Given the description of an element on the screen output the (x, y) to click on. 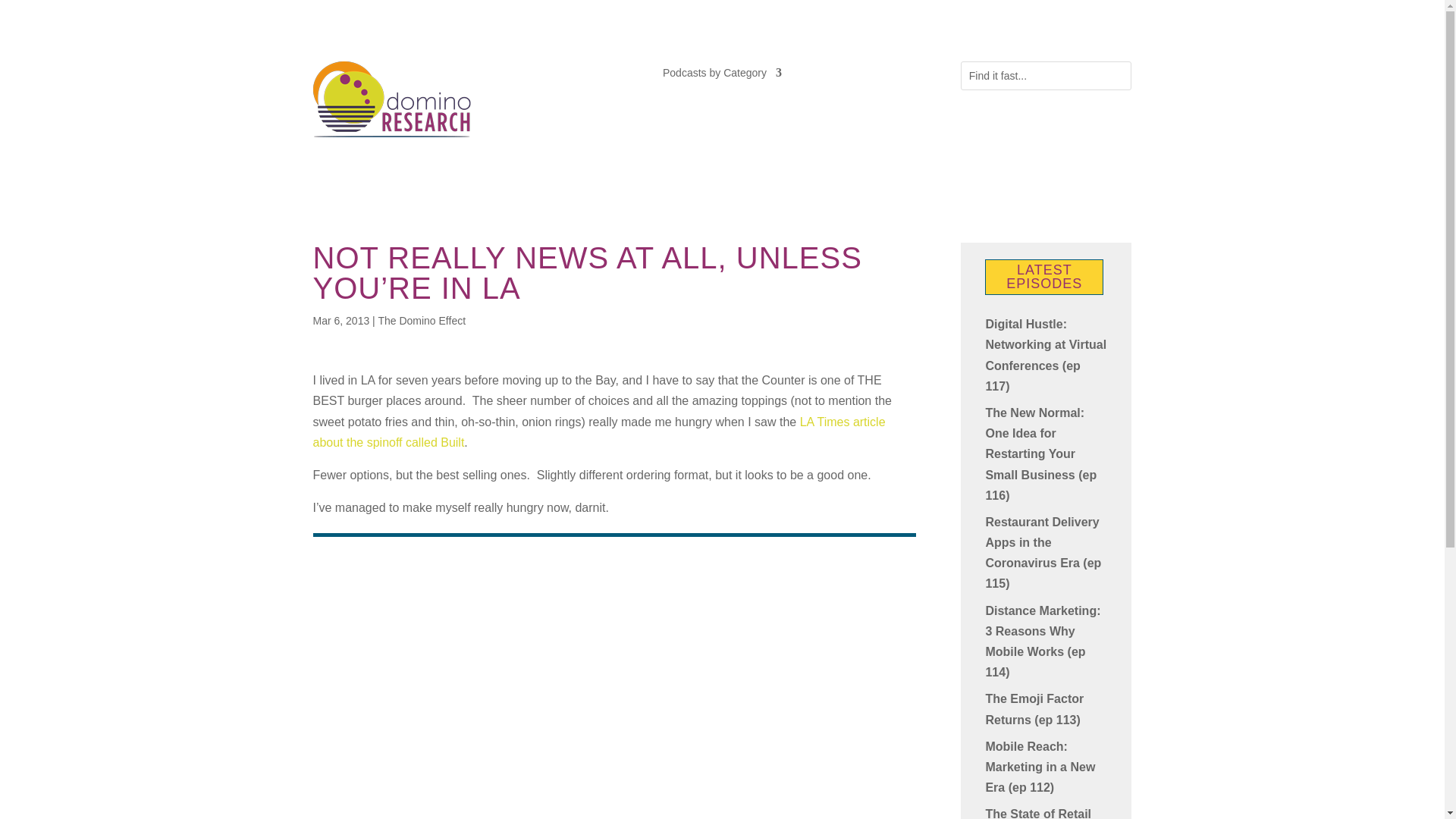
The Domino Effect (421, 320)
Domino Research (392, 99)
LA Times article about Built (599, 431)
LA Times article about the spinoff called Built (599, 431)
Podcasts by Category (721, 75)
Search (24, 13)
